Given the description of an element on the screen output the (x, y) to click on. 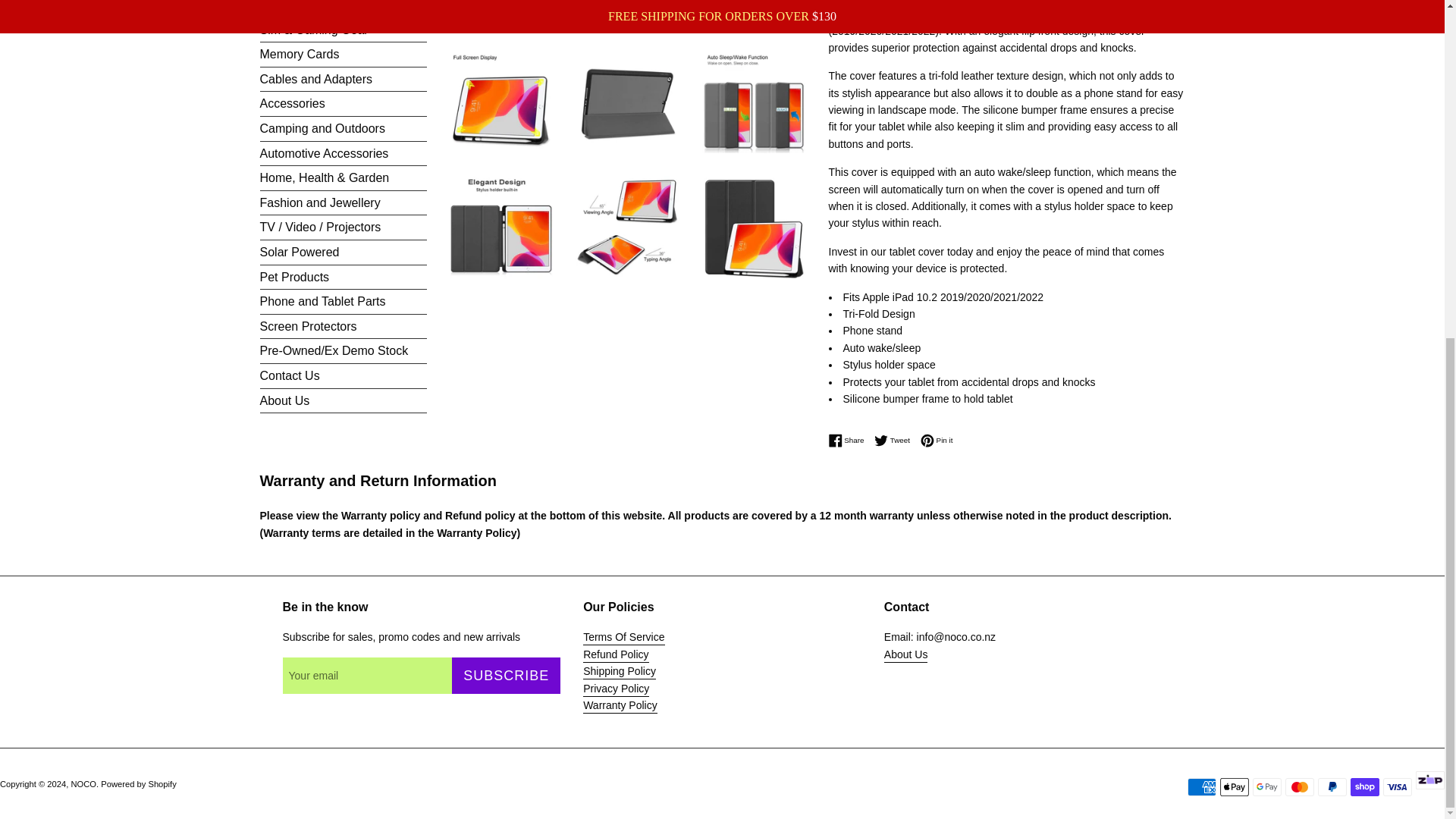
Terms of Service (623, 637)
Tweet on Twitter (896, 440)
Share on Facebook (849, 440)
Camping and Outdoors (342, 128)
Accessories (342, 103)
Warranty (620, 706)
PayPal (1331, 787)
Privacy Policy (616, 689)
Cables and Adapters (342, 79)
Solar Powered (342, 252)
Shipping Policy (619, 672)
Automotive Accessories (342, 153)
Fashion and Jewellery (342, 202)
Apple Pay (1234, 787)
Pet Products (342, 277)
